Given the description of an element on the screen output the (x, y) to click on. 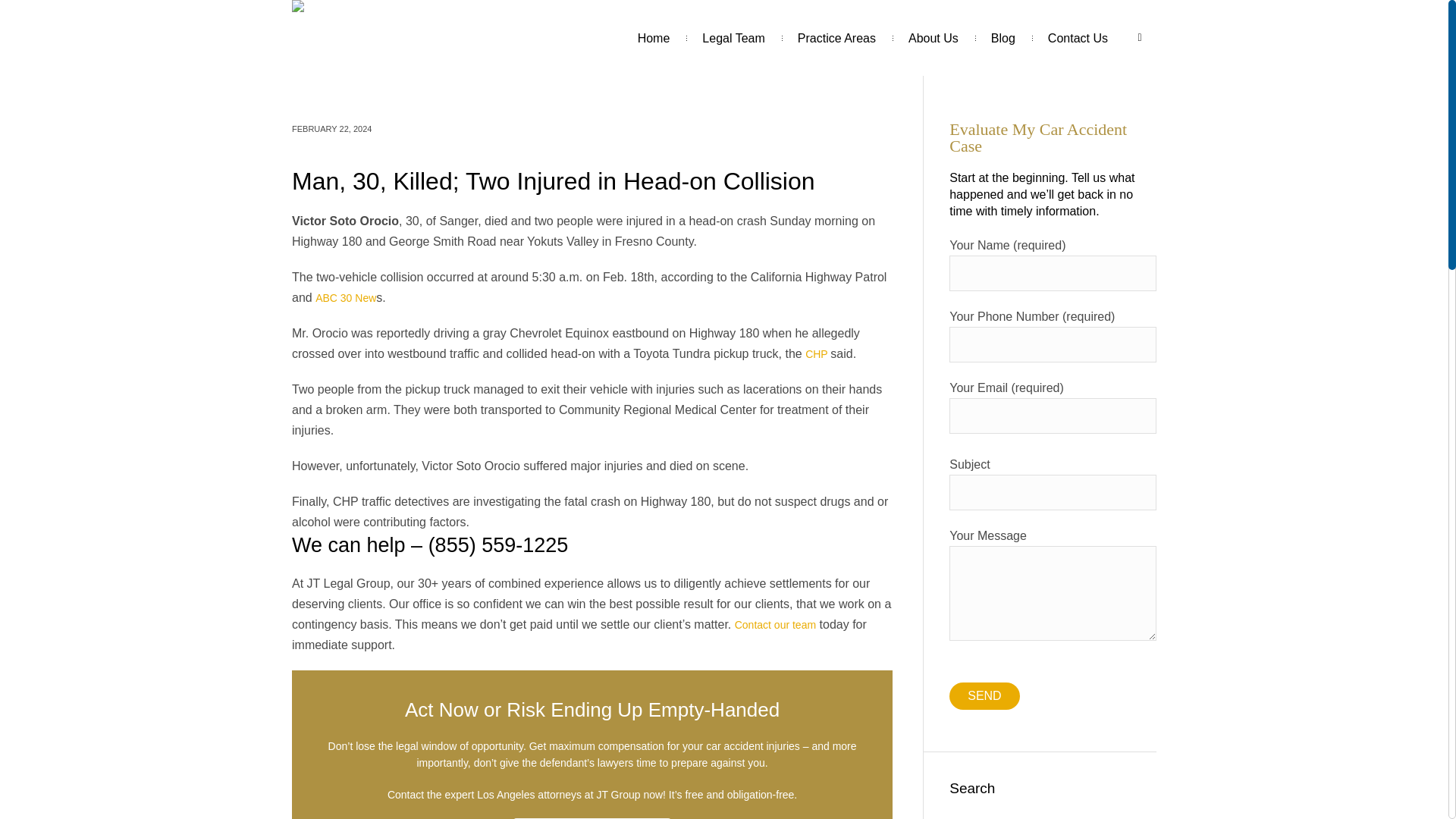
Contact Us (1078, 37)
Practice Areas (836, 37)
February 22, 2024 (331, 128)
Send (984, 696)
About Us (933, 37)
Blog (1002, 37)
Legal Team (732, 37)
CHP  (817, 354)
Home (653, 37)
